Given the description of an element on the screen output the (x, y) to click on. 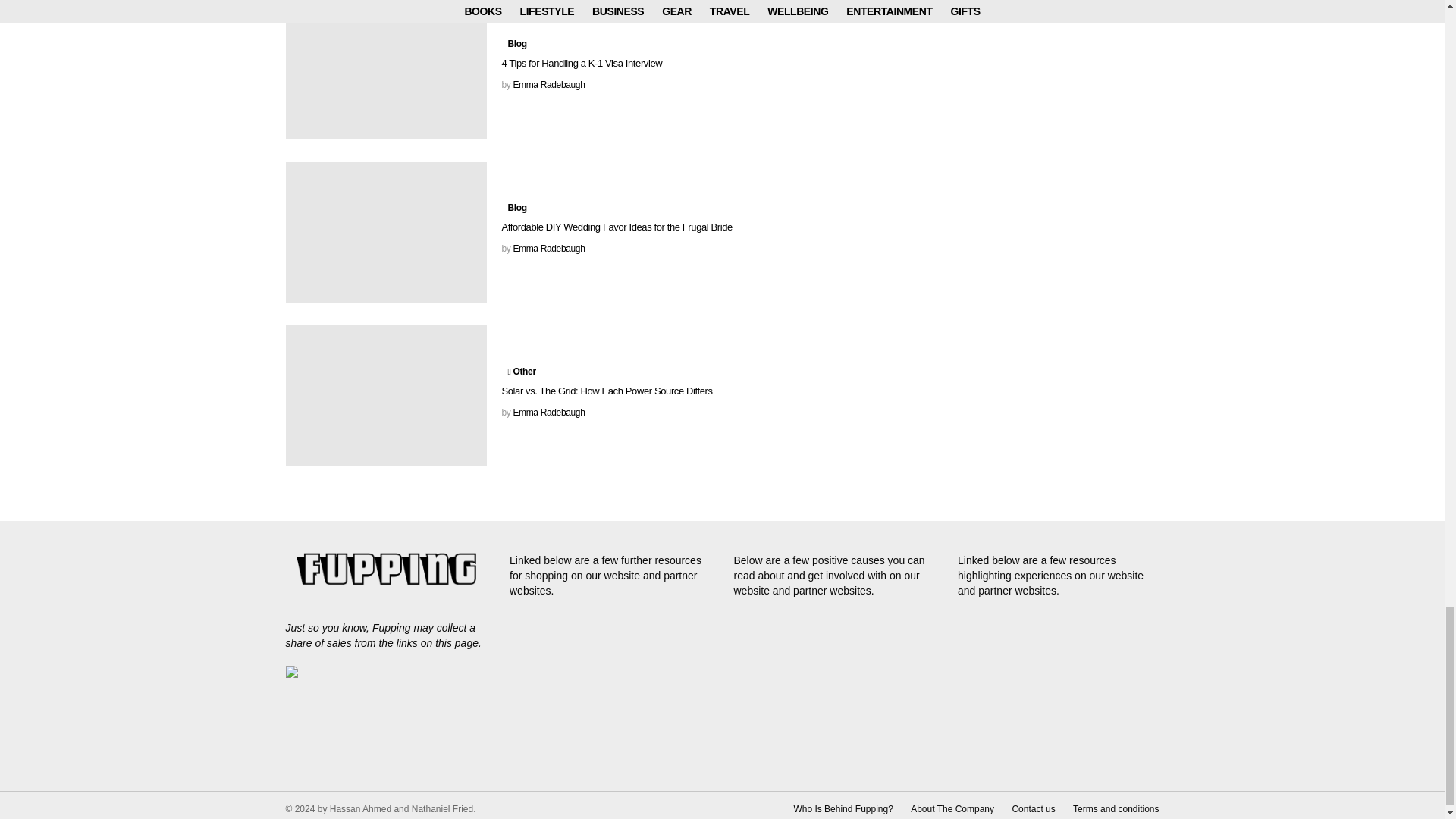
Solar vs. The Grid: How Each Power Source Differs (385, 395)
Posts by Emma Radebaugh (548, 248)
Affordable DIY Wedding Favor Ideas for the Frugal Bride (385, 231)
Posts by Emma Radebaugh (548, 84)
4 Tips for Handling a K-1 Visa Interview (385, 69)
Posts by Emma Radebaugh (548, 412)
